Given the description of an element on the screen output the (x, y) to click on. 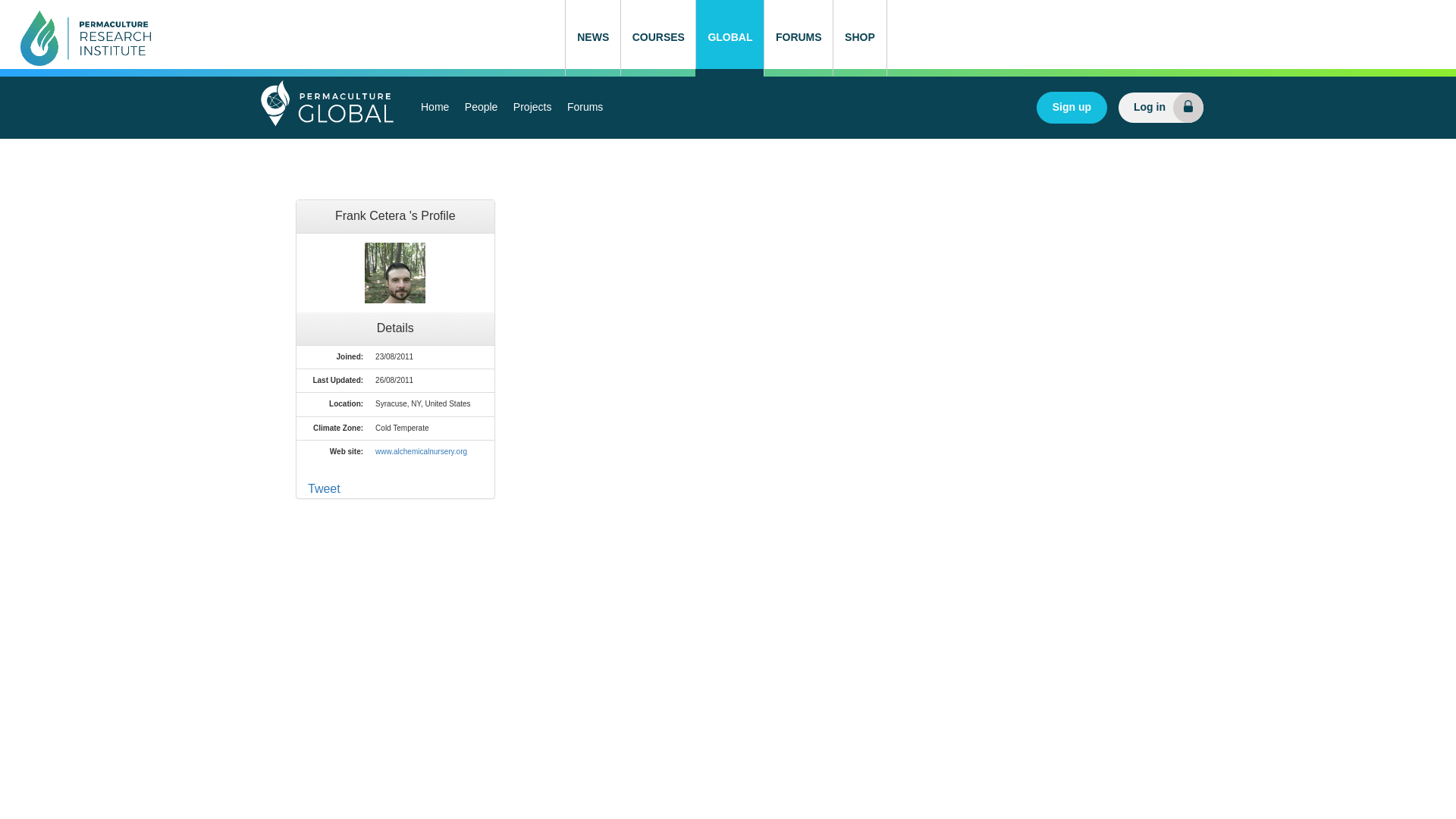
Forums (584, 107)
Home (434, 107)
Log in (1161, 107)
COURSES (657, 38)
Frank Cetera (395, 272)
Projects (531, 107)
www.alchemicalnursery.org (421, 451)
People (480, 107)
Tweet (323, 488)
FORUMS (797, 38)
GLOBAL (728, 38)
Sign up (1071, 107)
